Given the description of an element on the screen output the (x, y) to click on. 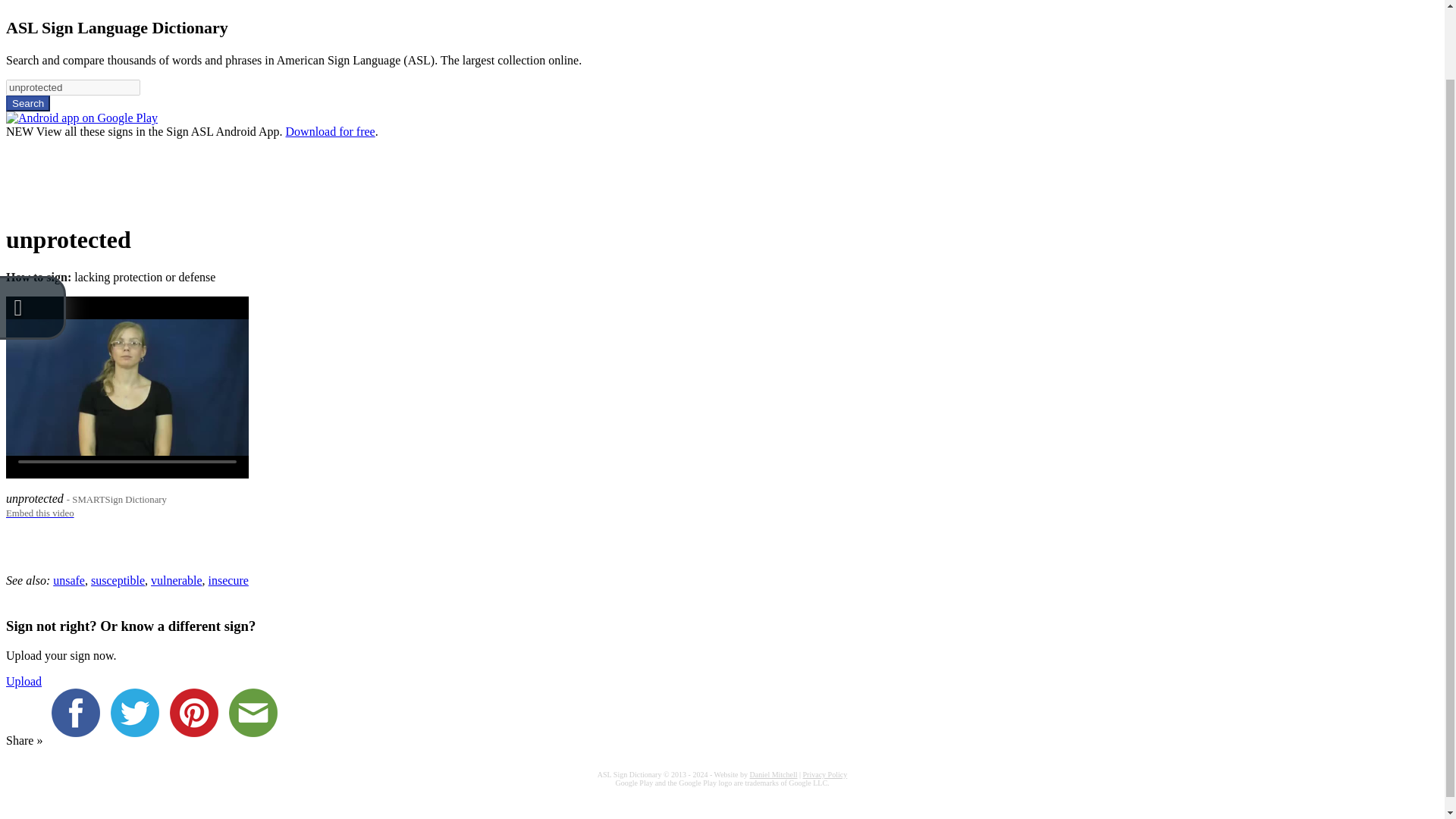
Embed this video (39, 512)
Facebook (78, 739)
Privacy Policy (825, 774)
Email (256, 739)
unprotected (72, 87)
Upload (23, 680)
Pininterest (197, 739)
vulnerable (176, 580)
Embed this video (39, 512)
insecure (228, 580)
